Given the description of an element on the screen output the (x, y) to click on. 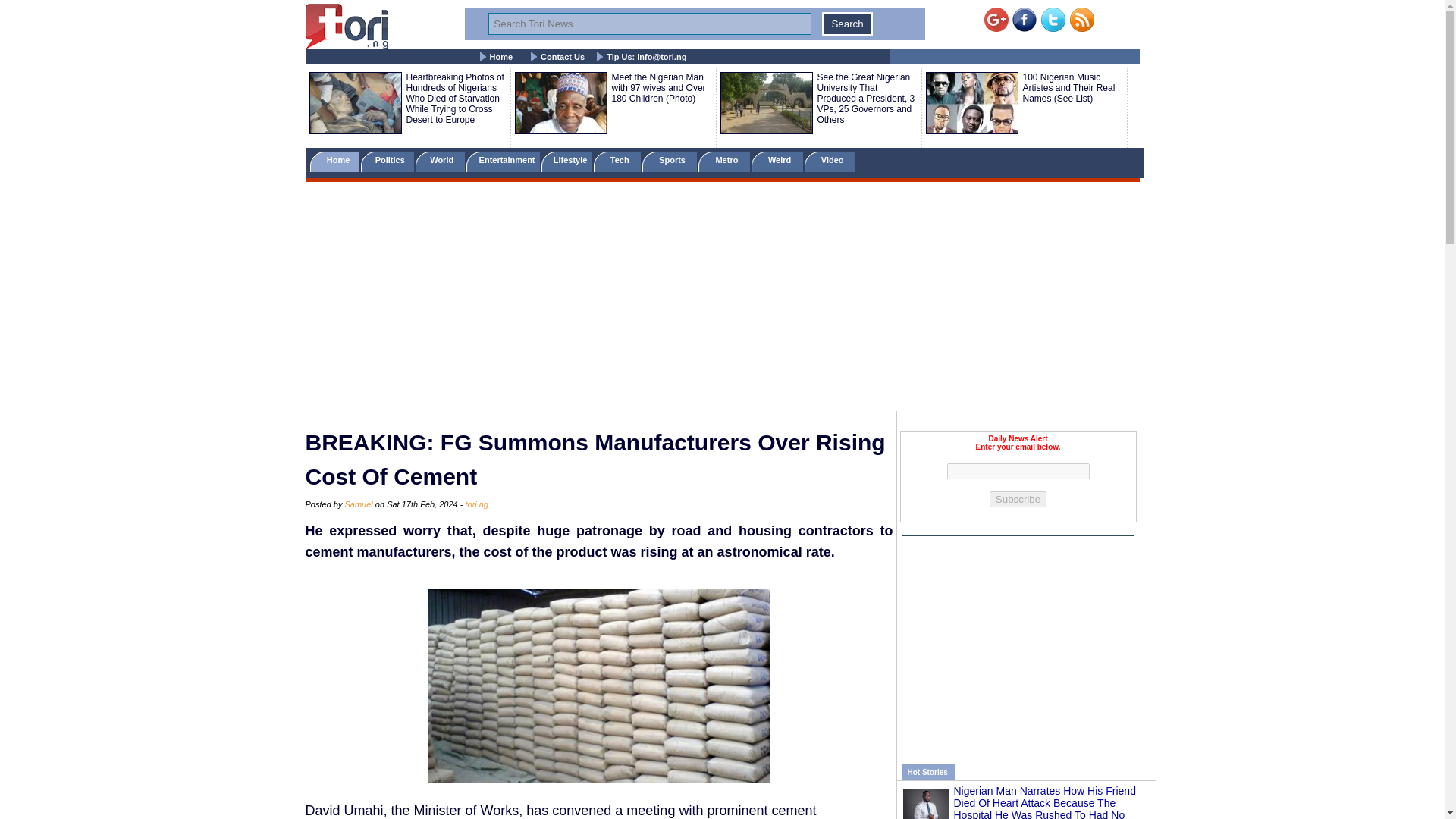
    Tech      (617, 161)
    Home     (333, 161)
    Weird      (777, 161)
  Lifestyle   (566, 161)
  Entertainment   (501, 161)
    Metro      (723, 161)
    Video      (830, 161)
Advertisement (1017, 642)
Subscribe (1018, 498)
Contact Us (562, 56)
Search (847, 24)
   Politics     (387, 161)
